Given the description of an element on the screen output the (x, y) to click on. 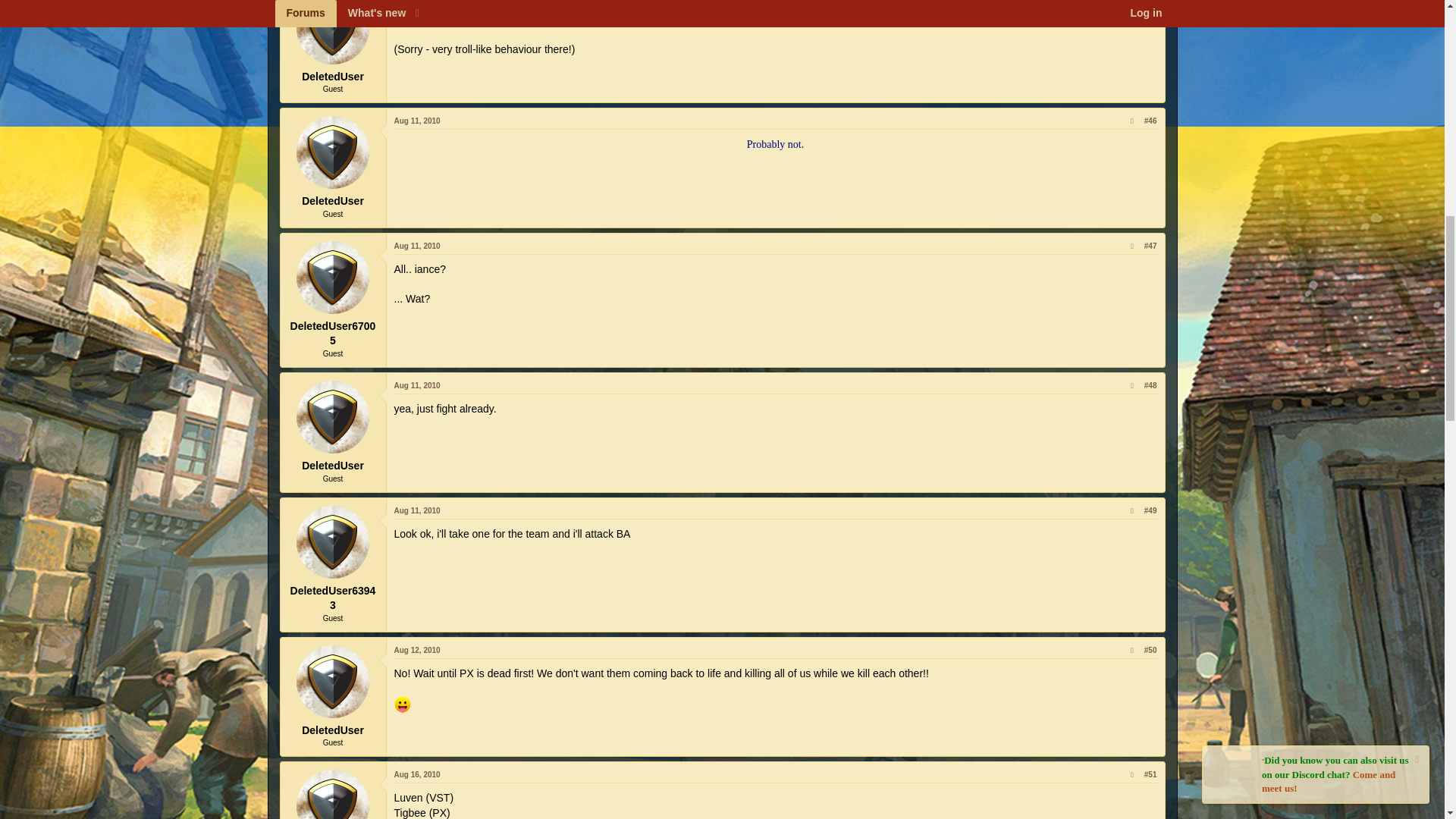
Aug 11, 2010 at 2:18 AM (417, 121)
DeletedUser (333, 152)
DeletedUser67005 (333, 276)
Aug 11, 2010 at 2:23 AM (417, 245)
DeletedUser (333, 32)
Aug 10, 2010 at 6:41 PM (417, 0)
